Given the description of an element on the screen output the (x, y) to click on. 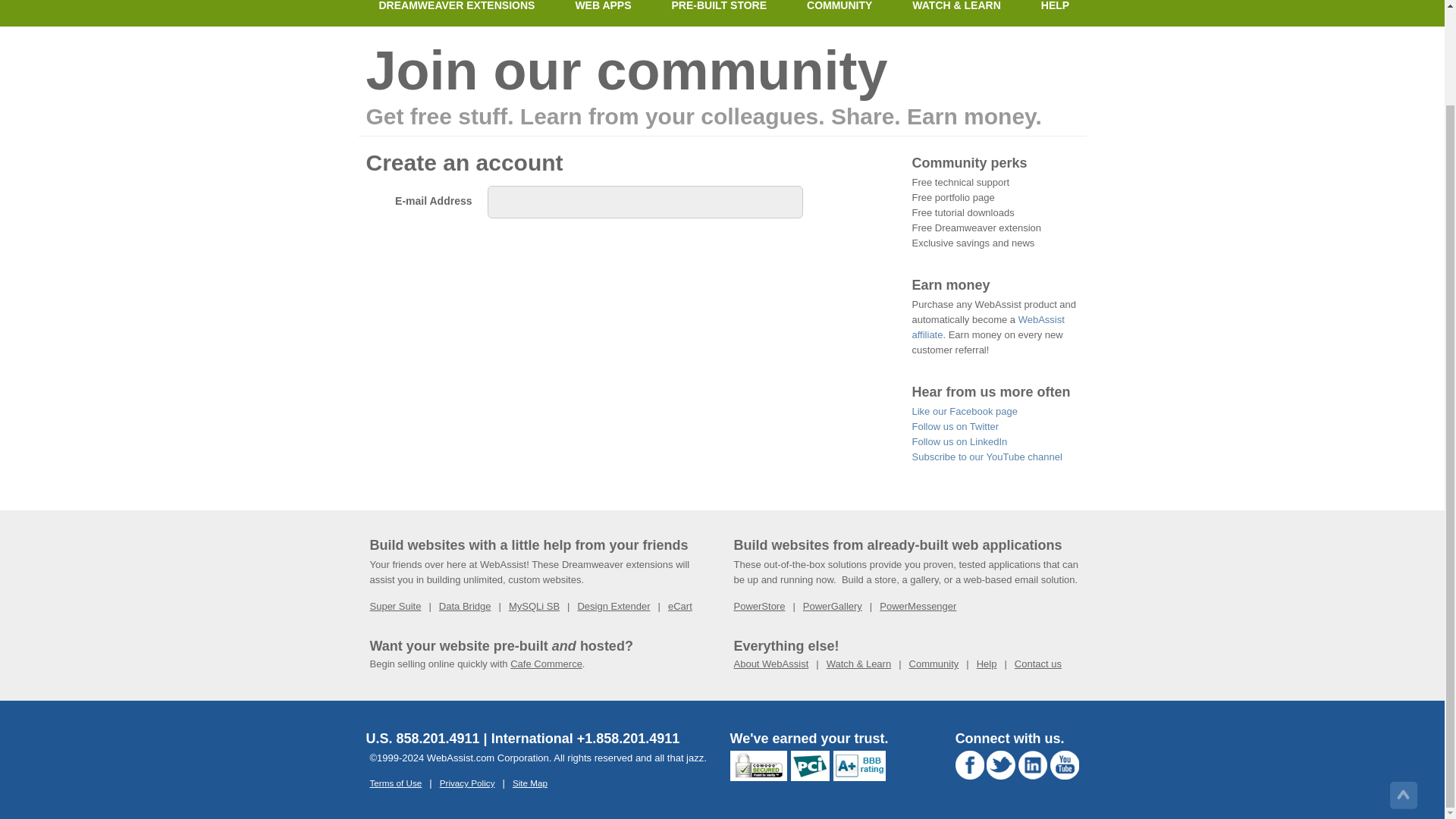
WEB APPS (602, 13)
COMMUNITY (838, 13)
PRE-BUILT STORE (718, 13)
DREAMWEAVER EXTENSIONS (456, 13)
HELP (1054, 13)
